Given the description of an element on the screen output the (x, y) to click on. 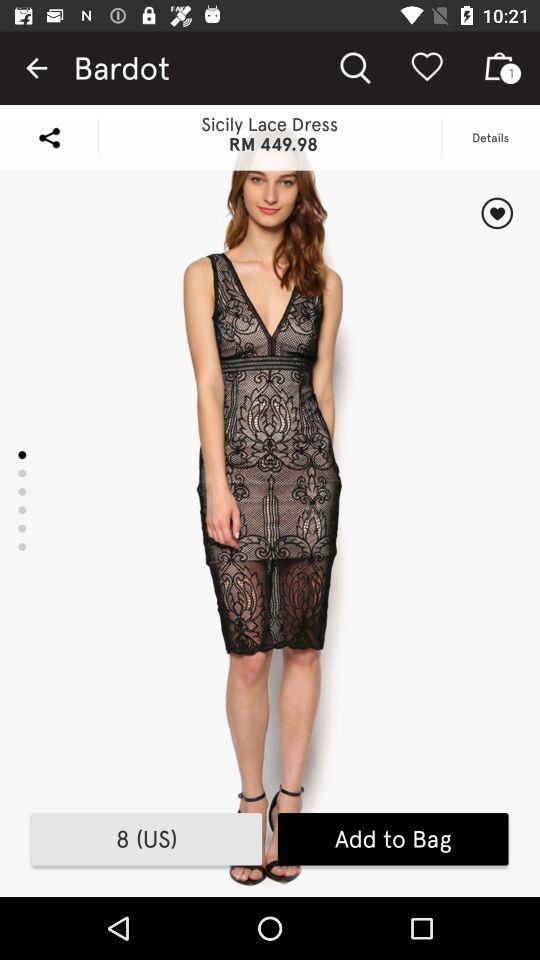
scroll until 8 (us) (146, 839)
